Given the description of an element on the screen output the (x, y) to click on. 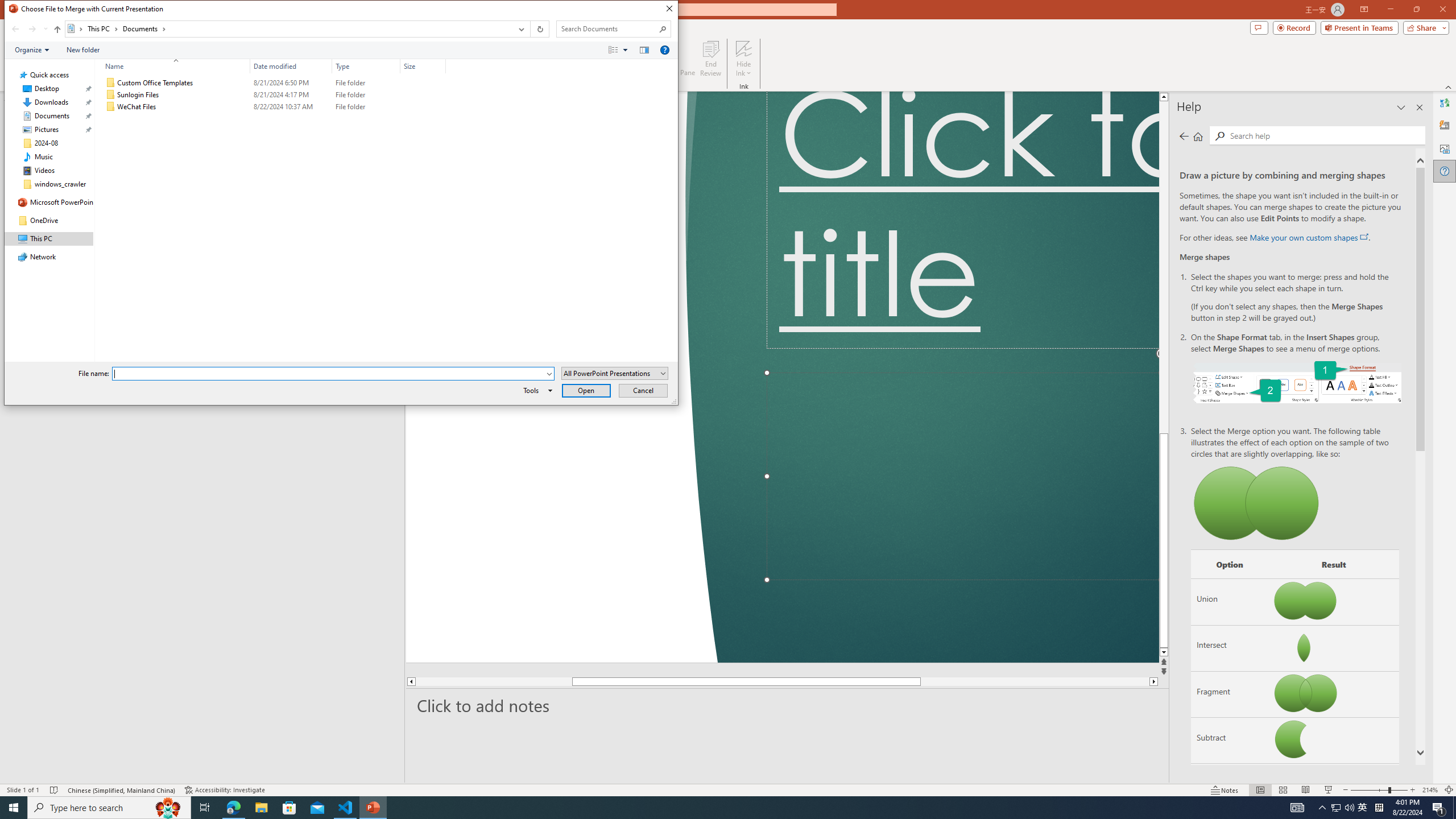
Sunlogin Files (273, 94)
Preview pane (644, 49)
Files of type: (615, 373)
Tools (535, 390)
Slide Notes (787, 705)
Refresh "Documents" (F5) (538, 28)
Cancel (643, 390)
View Slider (625, 49)
Size (422, 106)
Navigation buttons (28, 28)
